Given the description of an element on the screen output the (x, y) to click on. 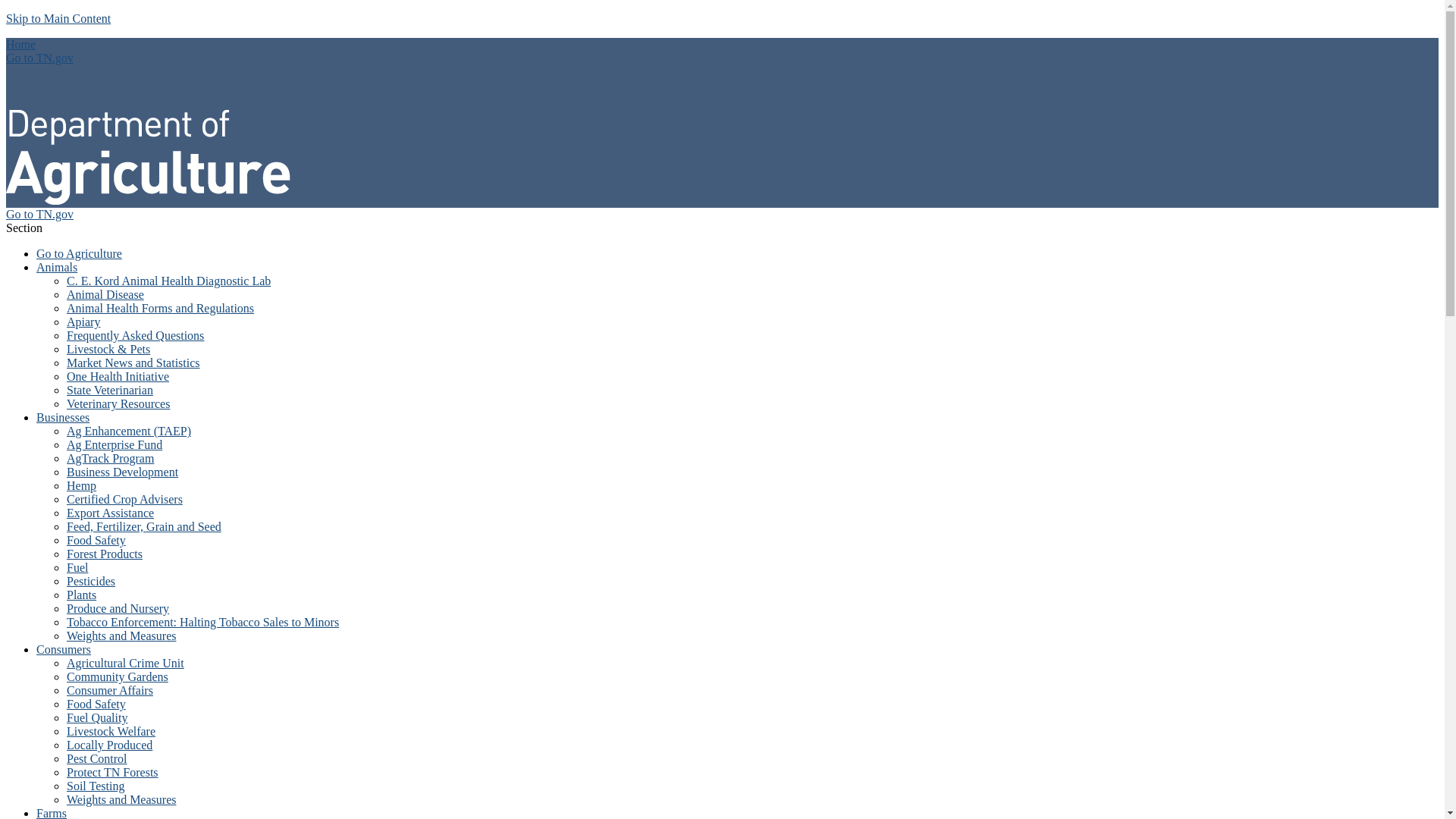
AgTrack Program (110, 458)
C. E. Kord Animal Health Diagnostic Lab (168, 280)
Consumers (63, 649)
Fuel (76, 567)
One Health Initiative (117, 376)
Consumer Affairs (109, 689)
Certified Crop Advisers (124, 499)
Skip to Main Content (57, 18)
Fuel Quality (97, 717)
Veterinary Resources (118, 403)
Frequently Asked Questions (134, 335)
Apiary (83, 321)
Market News and Statistics (133, 362)
Hemp (81, 485)
Forest Products (104, 553)
